Given the description of an element on the screen output the (x, y) to click on. 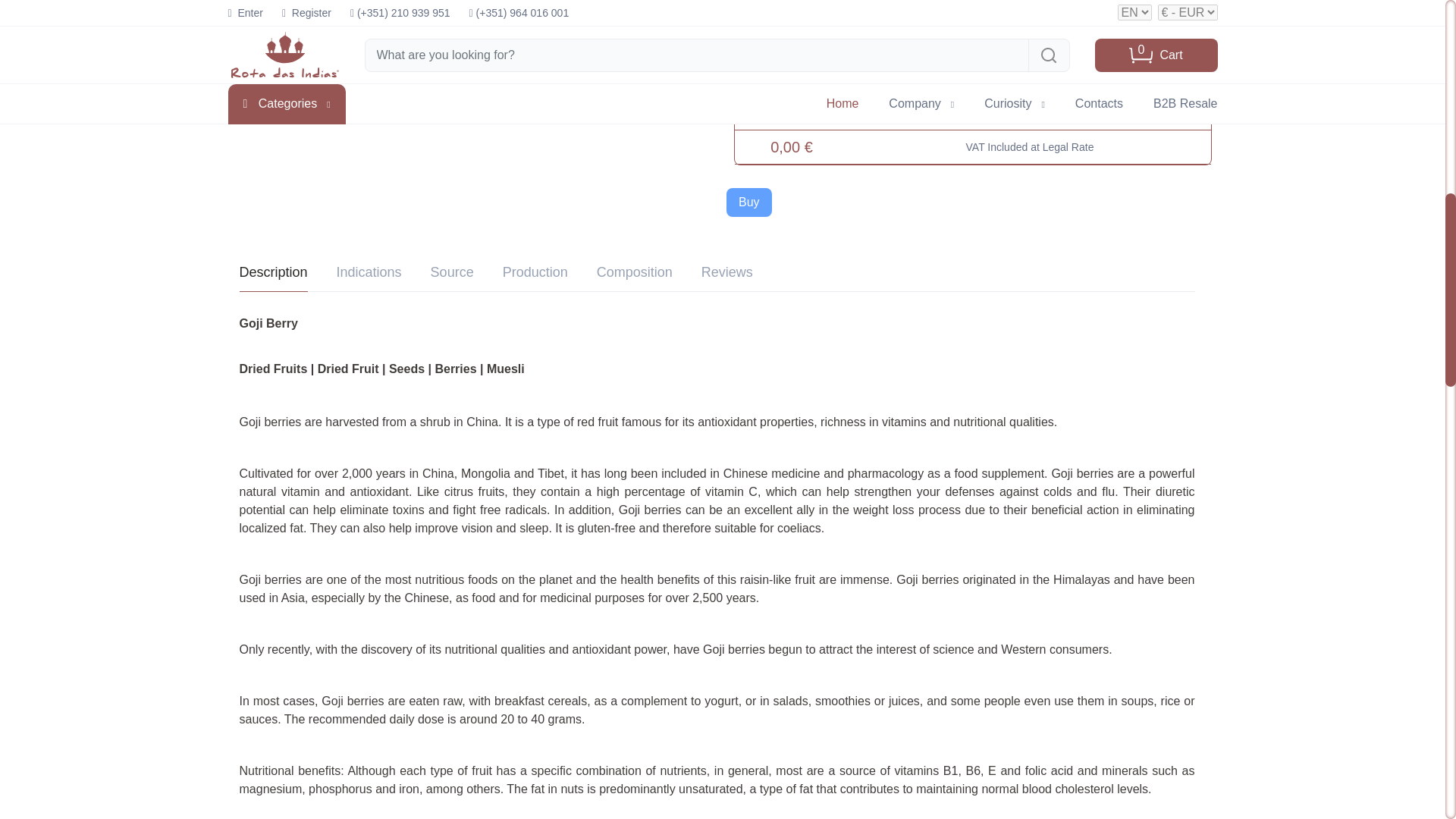
0 (791, 101)
0 (791, 46)
0 (791, 1)
